Given the description of an element on the screen output the (x, y) to click on. 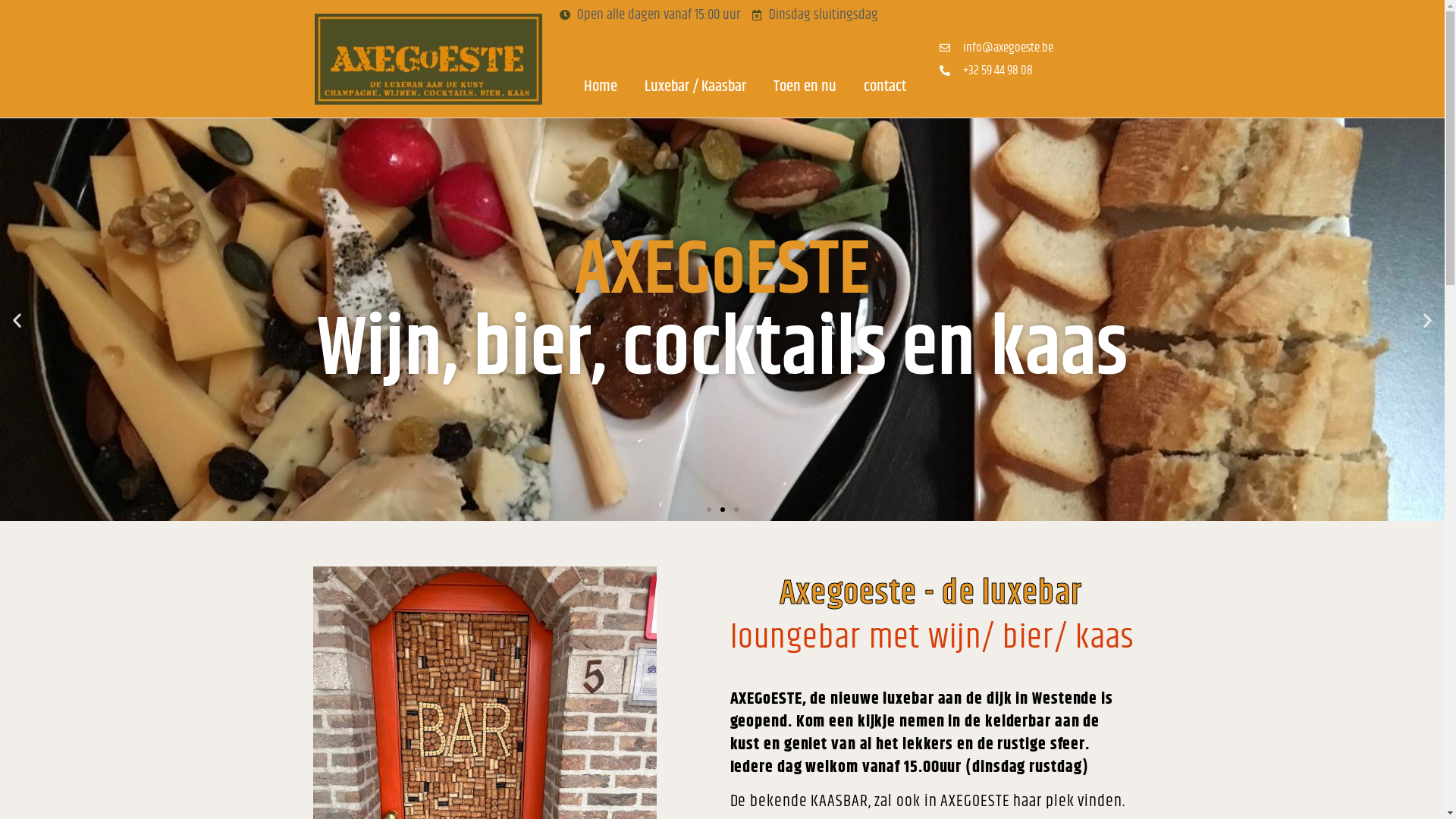
+32 59 44 98 08 Element type: text (987, 70)
Luxebar / Kaasbar Element type: text (695, 86)
Toen en nu Element type: text (804, 86)
contact Element type: text (884, 86)
info@axegoeste.be Element type: text (987, 47)
Home Element type: text (600, 86)
